Given the description of an element on the screen output the (x, y) to click on. 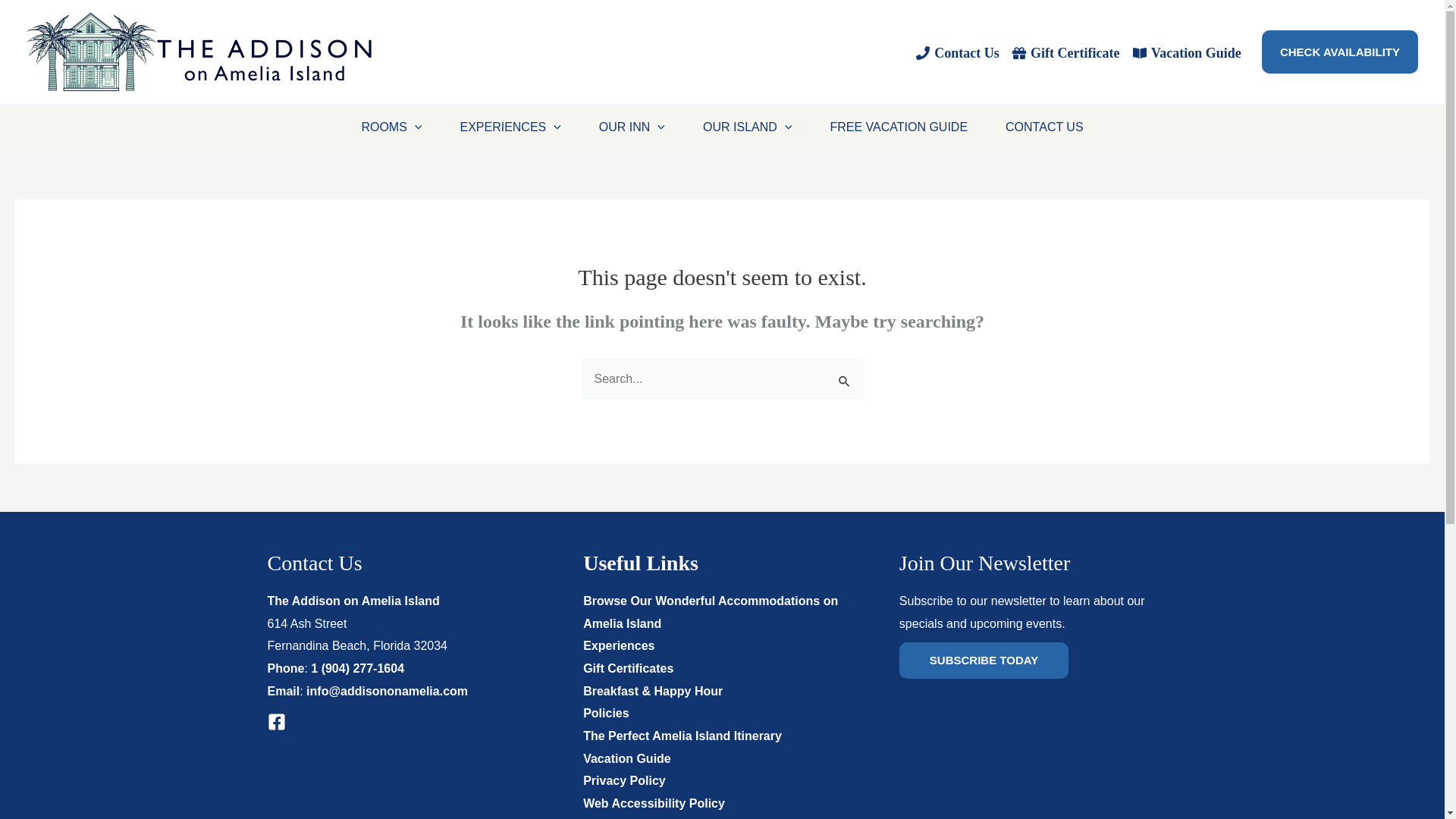
OUR ISLAND (747, 126)
FREE VACATION GUIDE (898, 126)
ROOMS (391, 126)
Search (844, 378)
CONTACT US (1044, 126)
Contact Us (957, 52)
Search (844, 378)
Vacation Guide (1186, 52)
CHECK AVAILABILITY (1340, 52)
EXPERIENCES (510, 126)
